Given the description of an element on the screen output the (x, y) to click on. 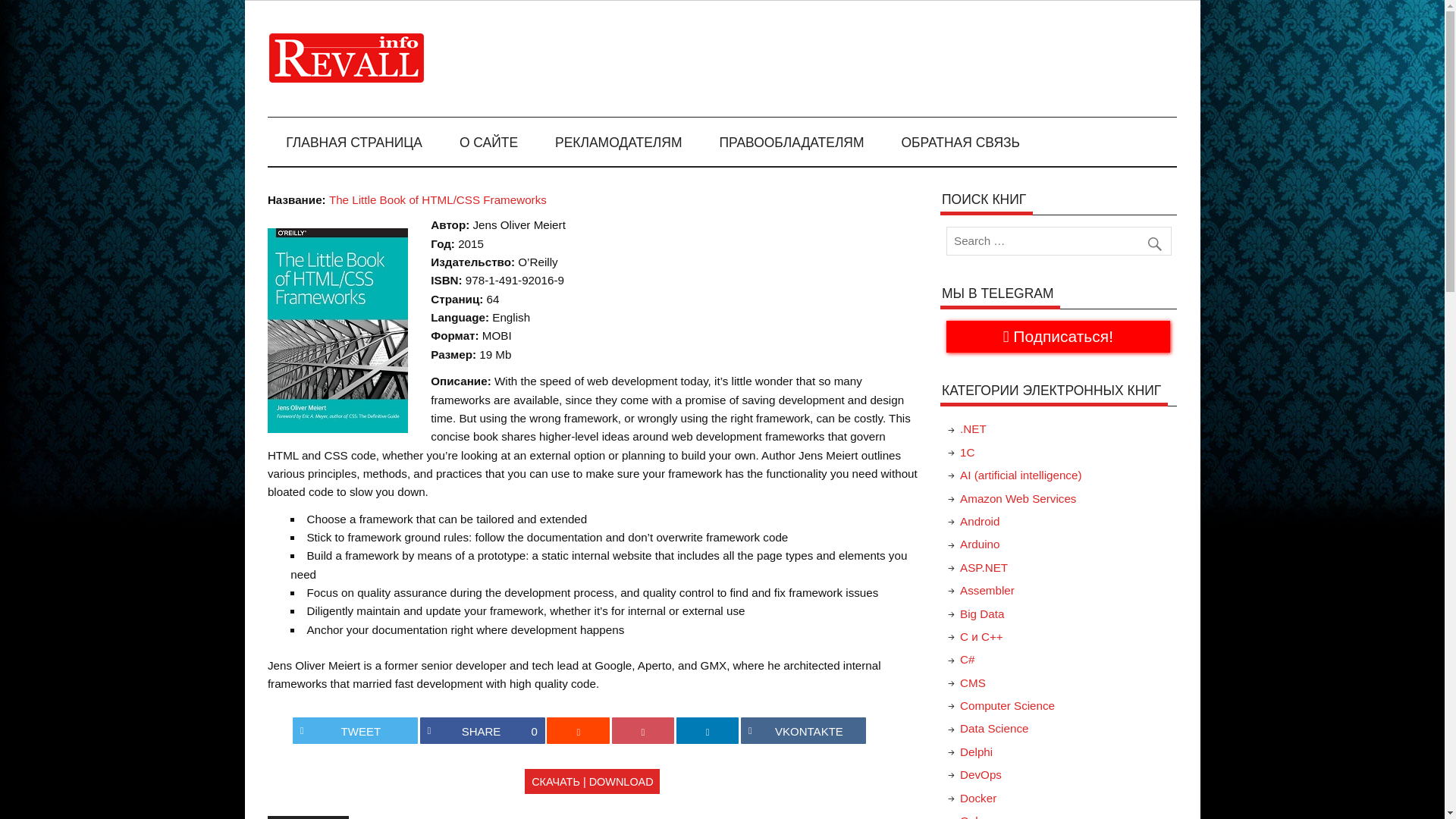
.NET (973, 428)
Big Data (981, 613)
Data Science (993, 727)
Amazon Web Services (1017, 498)
Share on Facebook (482, 730)
Docker (977, 797)
Share on Linkedin (708, 730)
Android (978, 521)
Submit to Reddit (578, 730)
Tweet on Twitter (354, 730)
DevOps (980, 774)
TWEET (354, 730)
1C (966, 451)
Save to read later on Pocket (643, 730)
Big Data (981, 613)
